Given the description of an element on the screen output the (x, y) to click on. 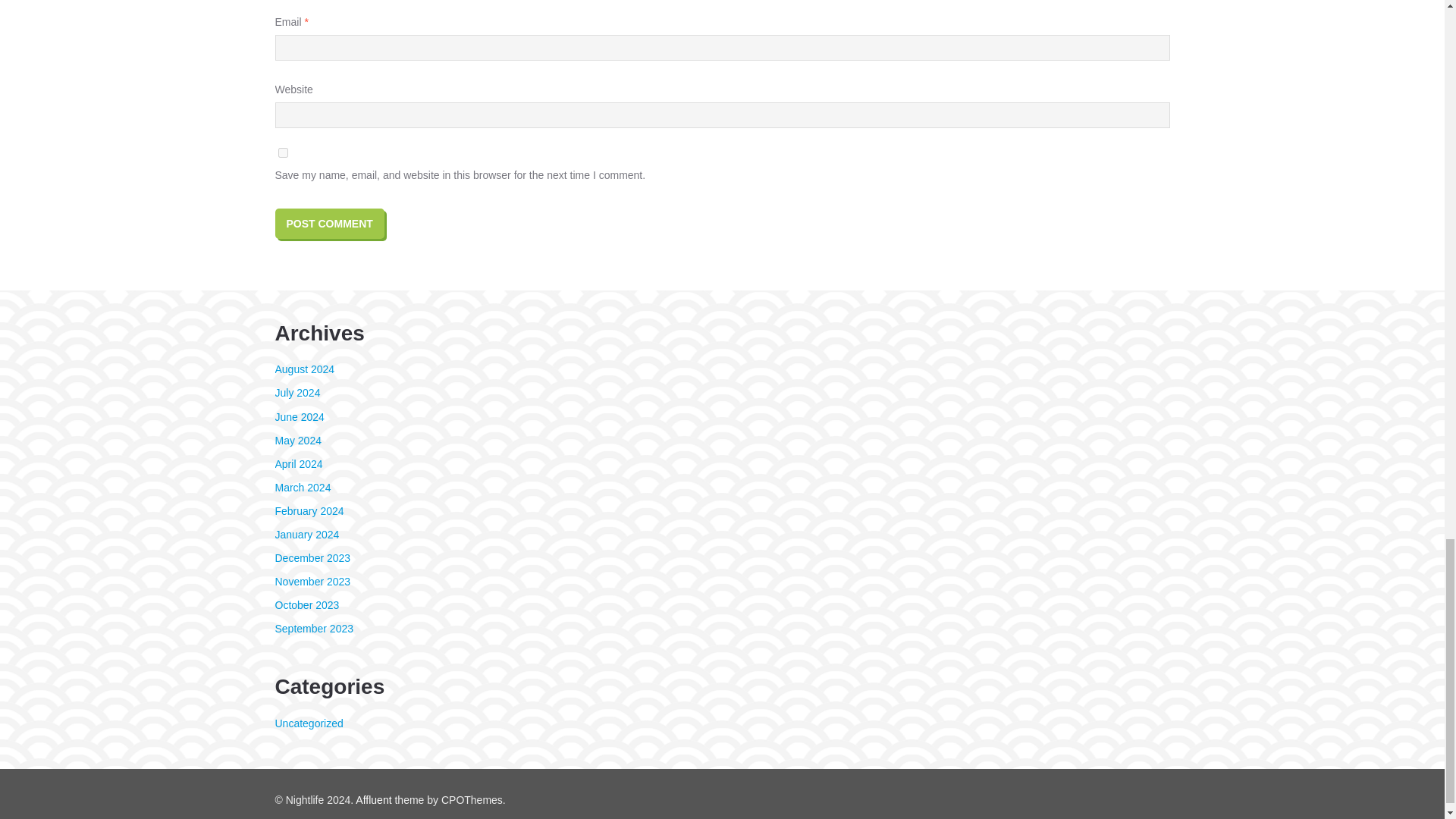
March 2024 (302, 487)
April 2024 (298, 463)
August 2024 (304, 369)
yes (282, 153)
November 2023 (312, 581)
July 2024 (297, 392)
September 2023 (314, 628)
January 2024 (307, 534)
Post Comment (329, 223)
December 2023 (312, 558)
